Given the description of an element on the screen output the (x, y) to click on. 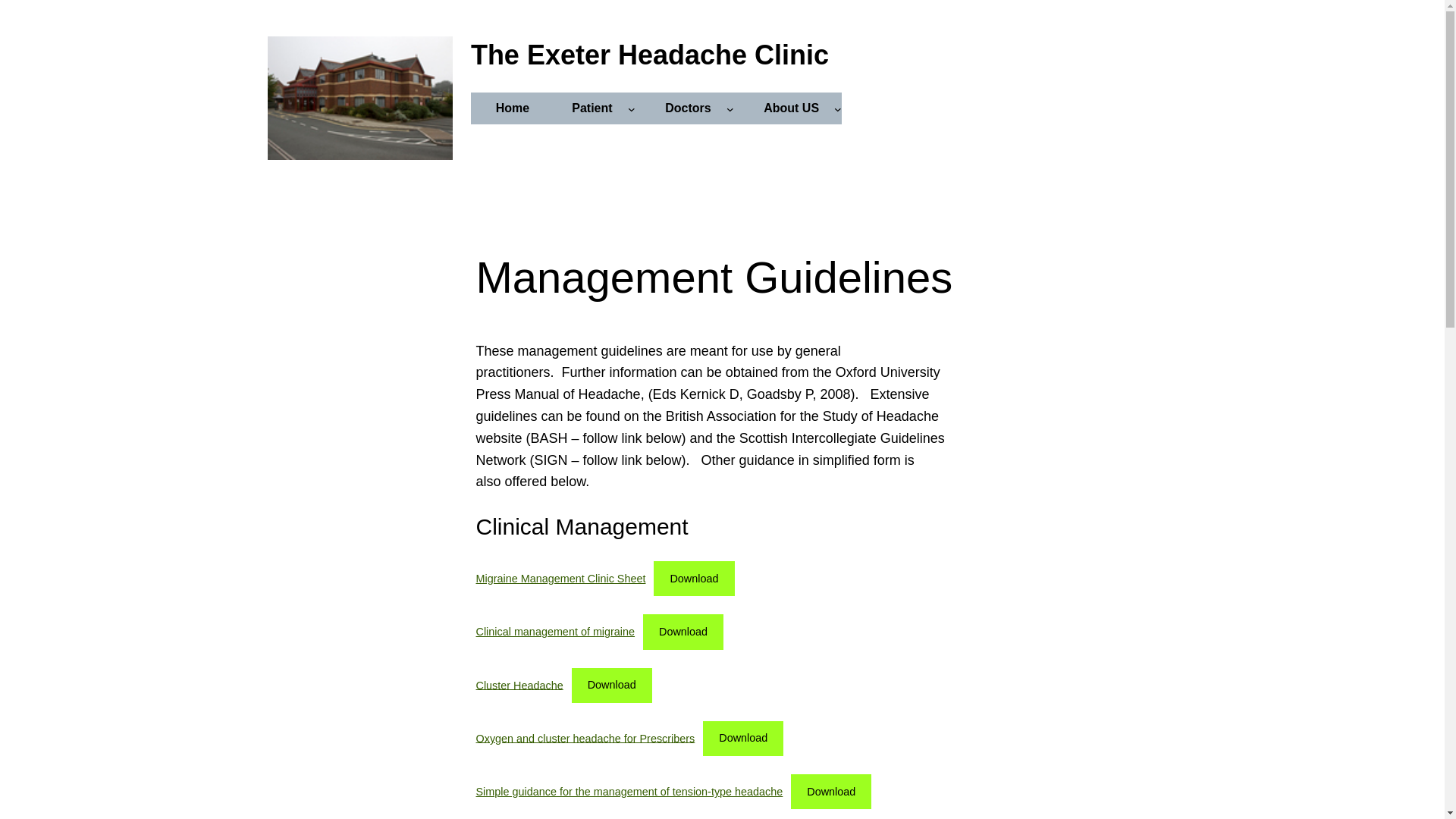
The Exeter Headache Clinic (649, 54)
Doctors (687, 108)
About US (791, 108)
Migraine Management Clinic Sheet (561, 578)
Clinical management of migraine (555, 631)
Simple guidance for the management of tension-type headache (629, 791)
Download (612, 685)
Patient (591, 108)
Oxygen and cluster headache for Prescribers (585, 737)
Home (512, 108)
Download (743, 738)
Cluster Headache (519, 684)
Download (683, 631)
Download (693, 578)
Download (830, 791)
